Given the description of an element on the screen output the (x, y) to click on. 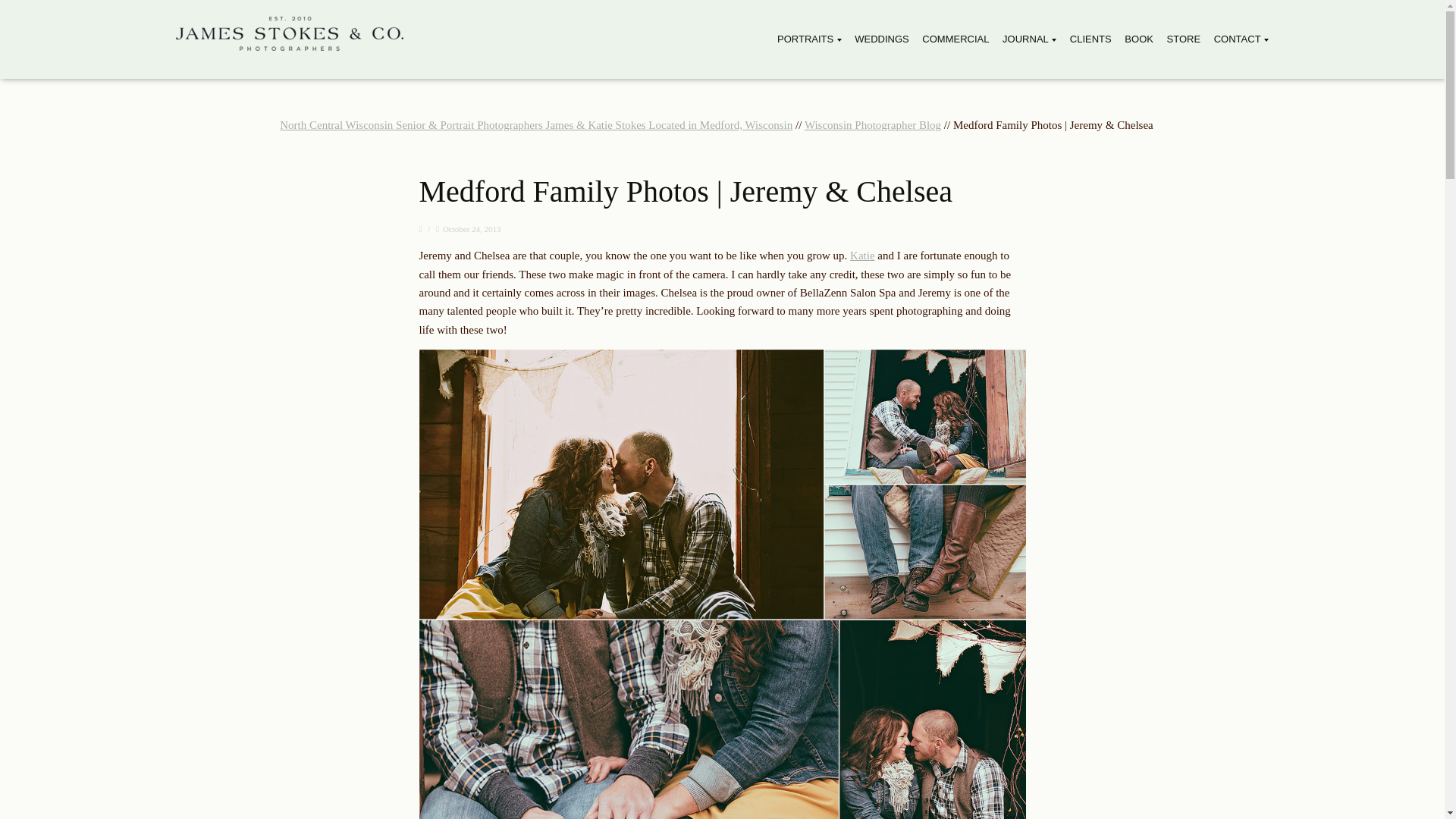
North Central Wisconsin Senior Portrait Photographer Studio  (809, 39)
WEDDINGS (881, 39)
Central Wisconsin Wausau Area Commercial Photographer  (954, 39)
STORE (1184, 39)
BOOK (1138, 39)
Contact James Stokes Photography (1241, 39)
CLIENTS (1091, 39)
Online Photography Gallery  (1091, 39)
COMMERCIAL (954, 39)
